Given the description of an element on the screen output the (x, y) to click on. 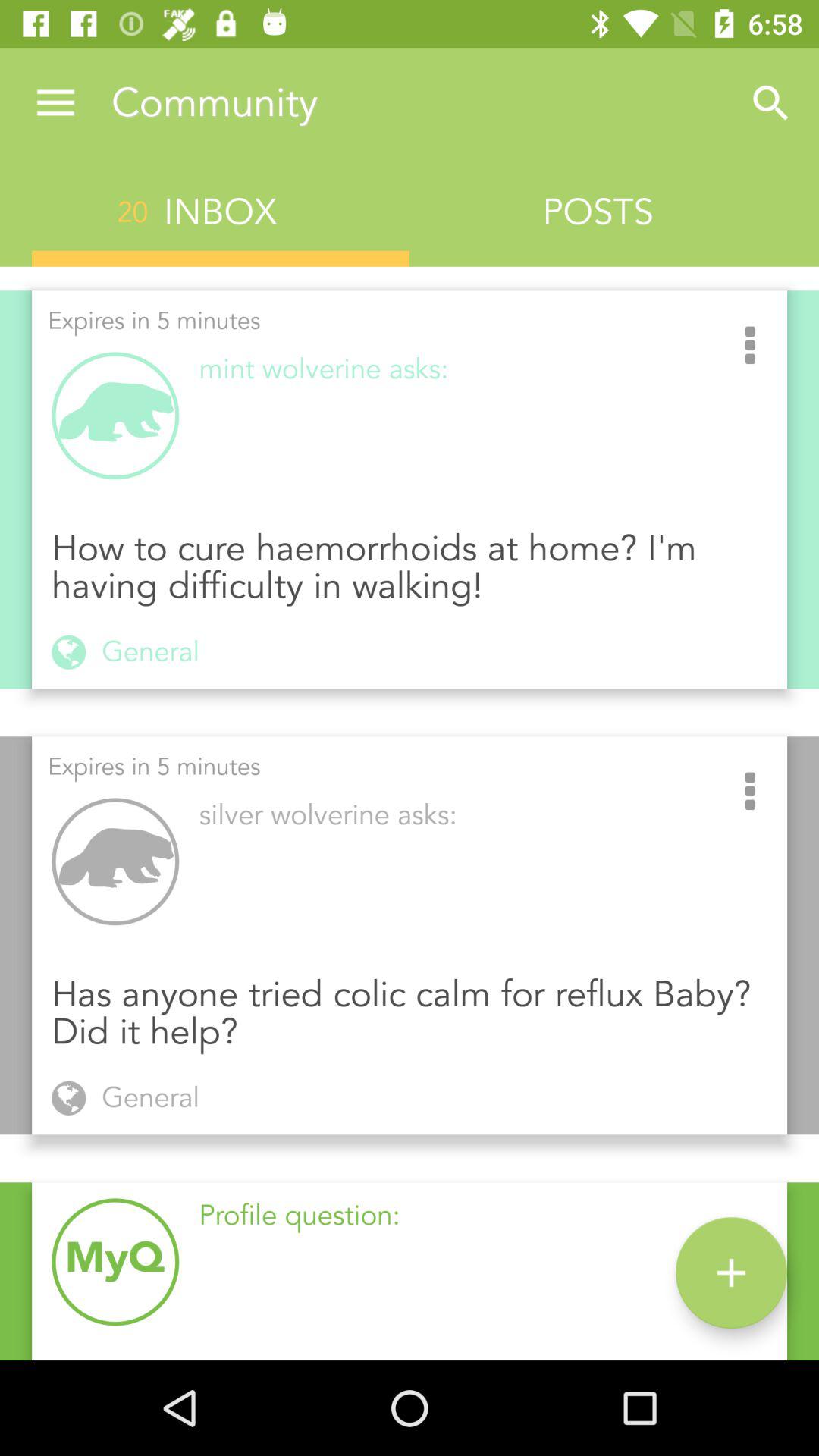
choose item next to profile question: (731, 1272)
